Given the description of an element on the screen output the (x, y) to click on. 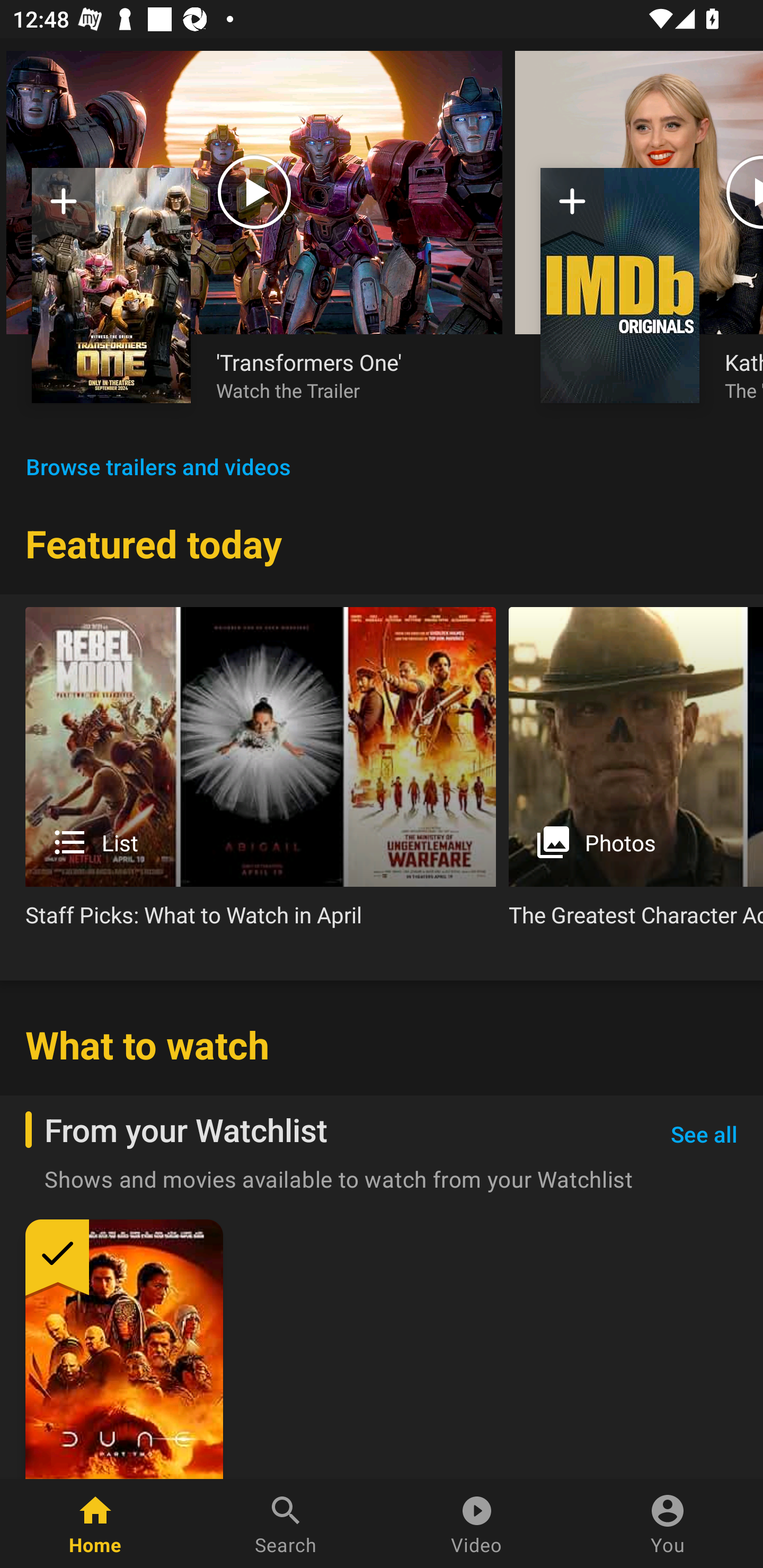
Not in watchlist (111, 284)
Not in watchlist (63, 207)
Not in watchlist (619, 284)
Not in watchlist (572, 207)
'Transformers One' Watch the Trailer (345, 374)
List Staff Picks: What to Watch in April (260, 774)
Photos The Greatest Character Actors of All Time (635, 774)
See all See all From your Watchlist (703, 1134)
Search (285, 1523)
Video (476, 1523)
You (667, 1523)
